Given the description of an element on the screen output the (x, y) to click on. 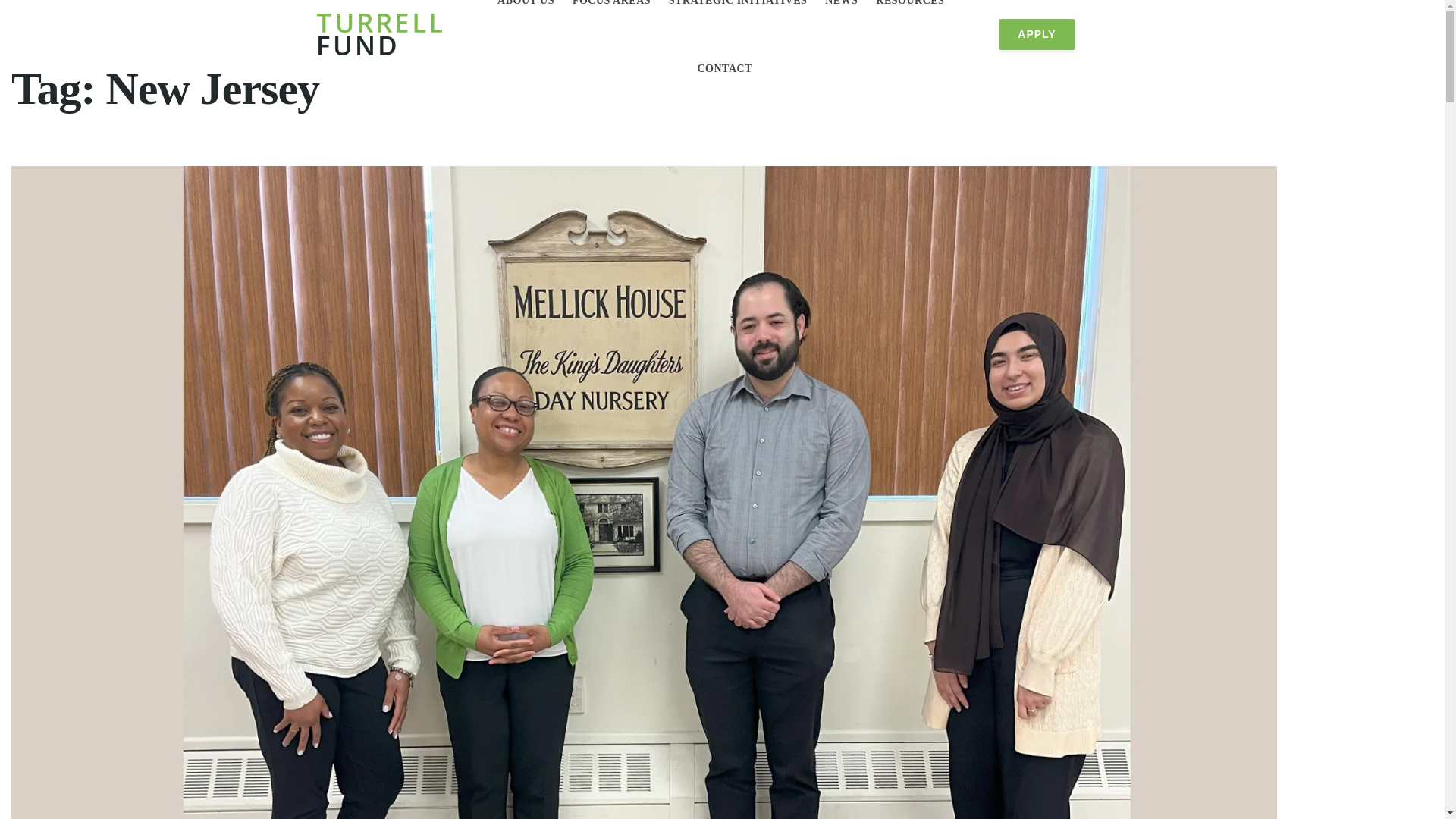
NEWS (841, 2)
CONTACT (724, 68)
FOCUS AREAS (611, 2)
APPLY (1036, 33)
RESOURCES (909, 2)
ABOUT US (525, 2)
STRATEGIC INITIATIVES (737, 2)
